Given the description of an element on the screen output the (x, y) to click on. 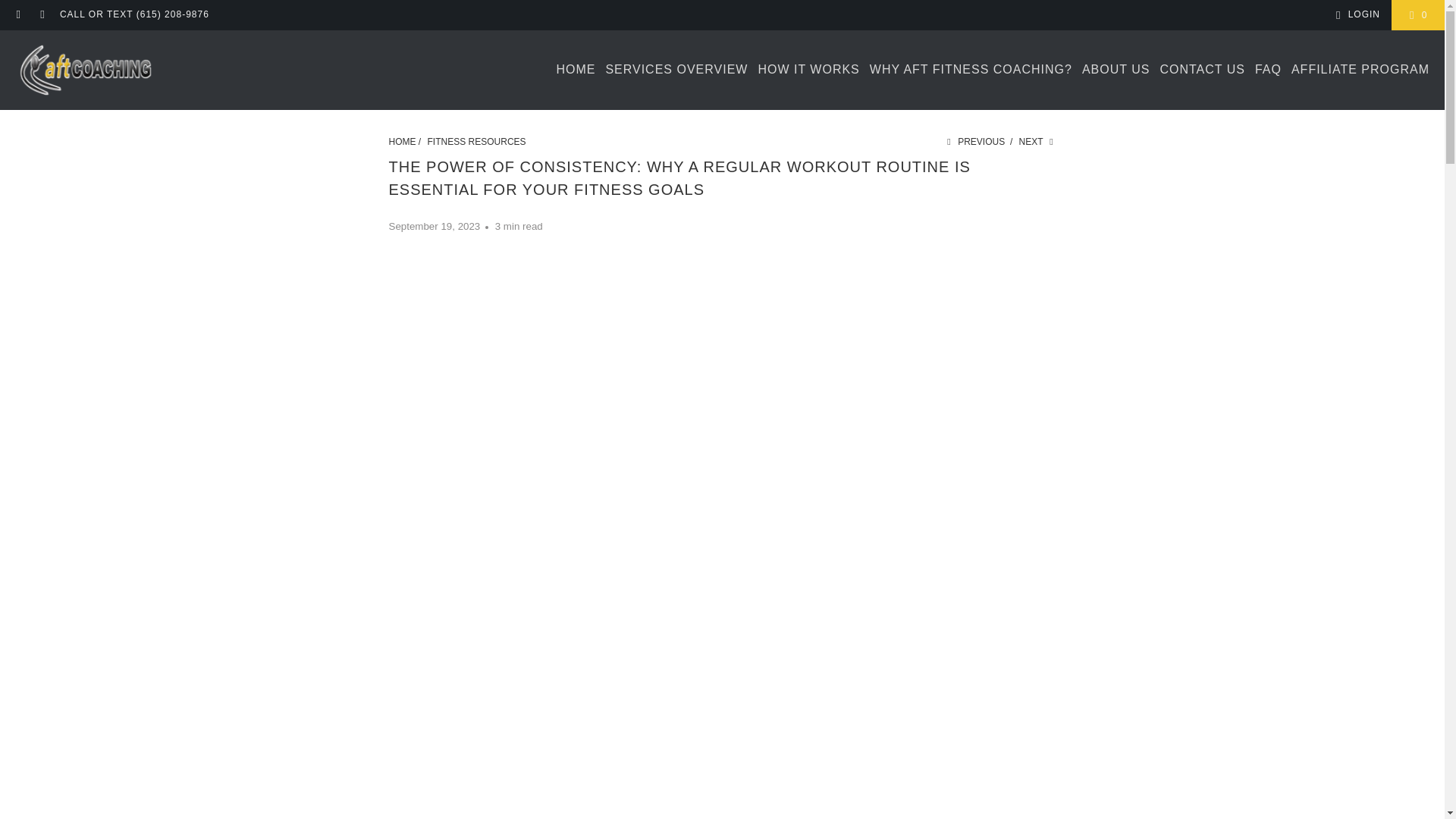
AFT Fitness Coaching (84, 69)
AFT Fitness Coaching on Facebook (17, 14)
HOME (575, 69)
My Account  (1355, 14)
AFT Fitness Coaching (401, 141)
SERVICES OVERVIEW (676, 69)
CONTACT US (1201, 69)
HOW IT WORKS (808, 69)
AFT Fitness Coaching on Instagram (41, 14)
ABOUT US (1115, 69)
